Given the description of an element on the screen output the (x, y) to click on. 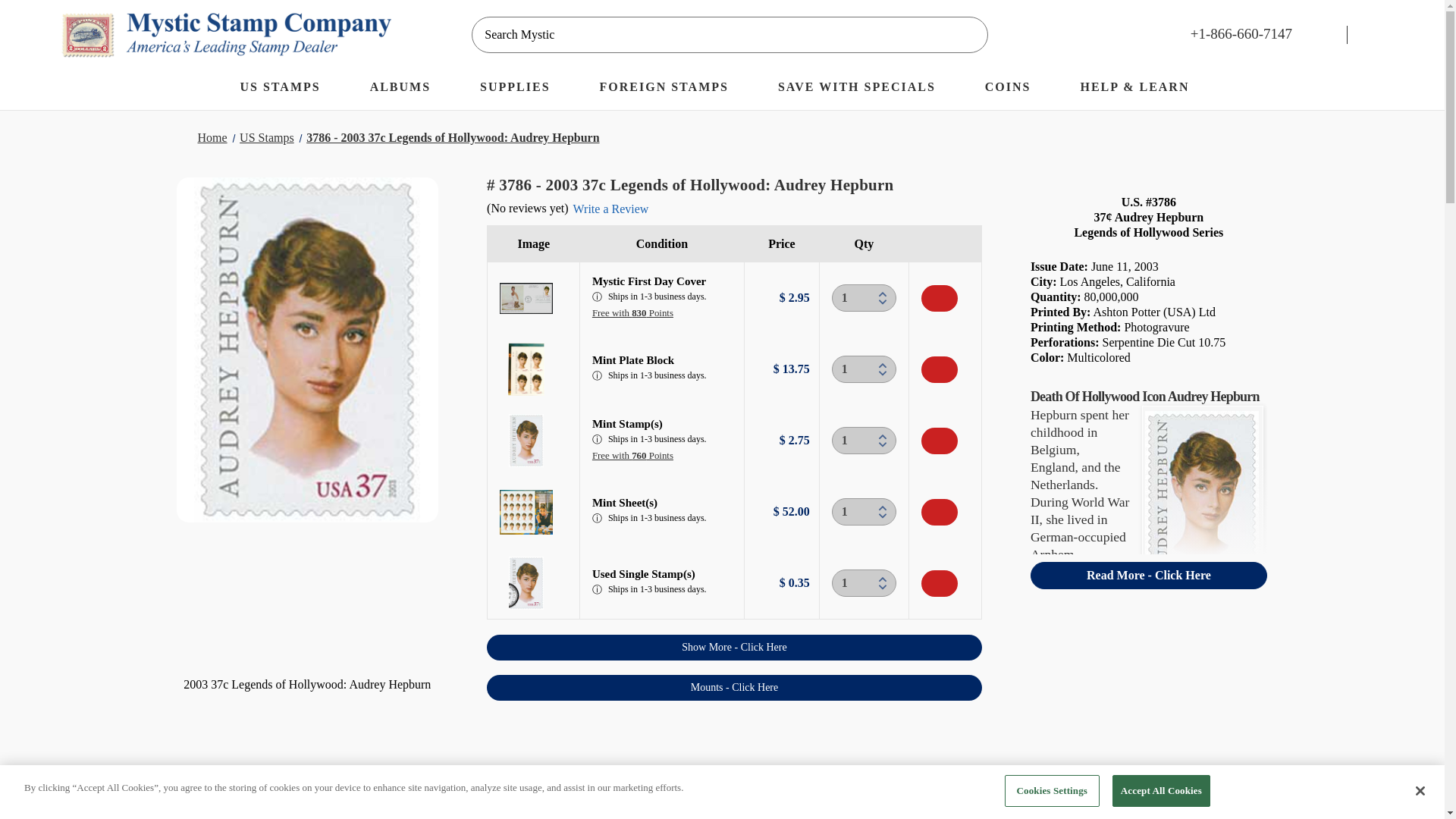
SUPPLIES (521, 88)
Mystic Stamp Company (226, 34)
US STAMPS (287, 88)
ALBUMS (408, 88)
